Given the description of an element on the screen output the (x, y) to click on. 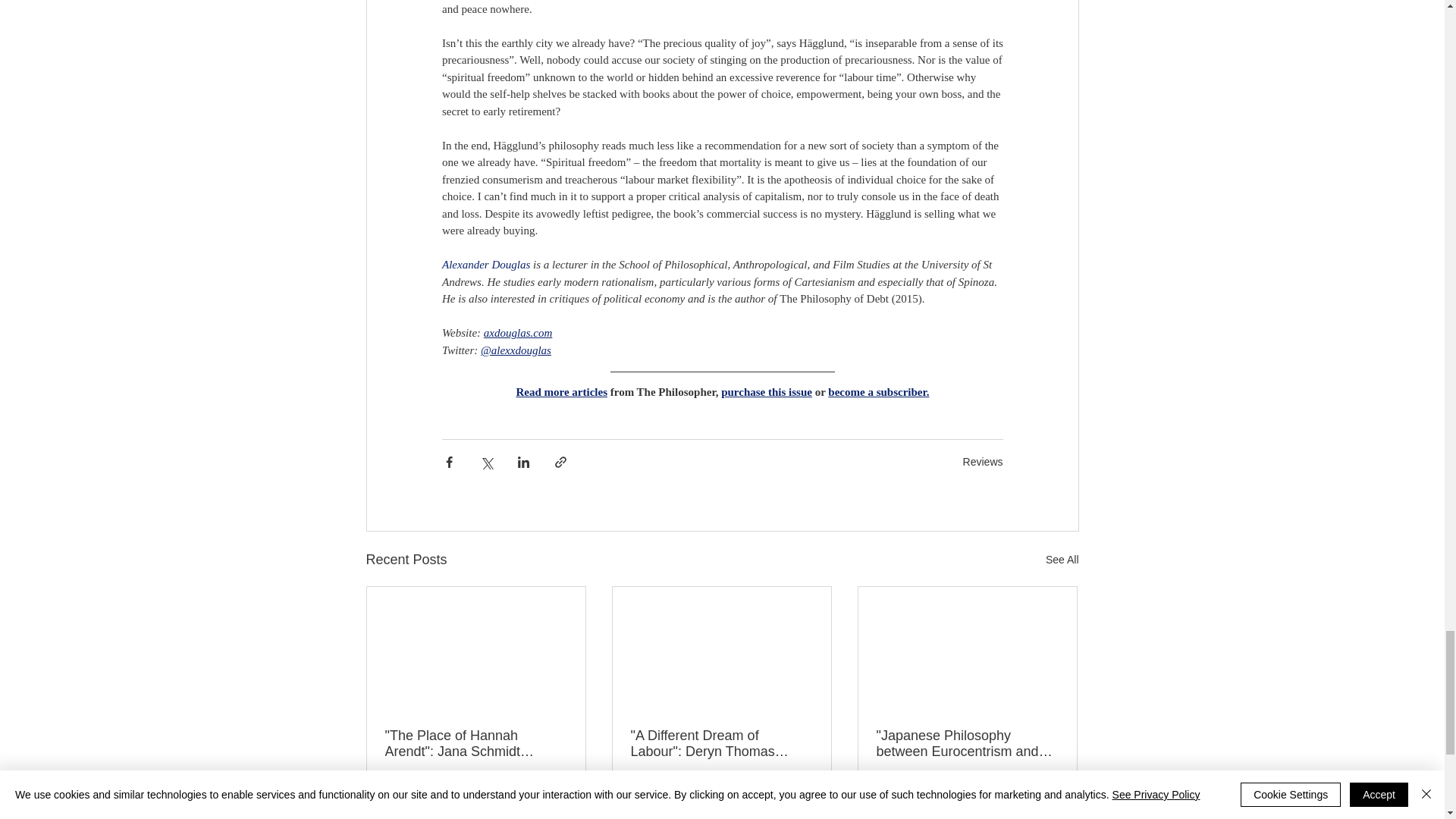
axdouglas.com (517, 332)
purchase this issue (766, 391)
Alexander Douglas (485, 264)
See All (1061, 559)
become a subscriber. (878, 391)
Reviews (982, 461)
Read more articles (561, 391)
